Given the description of an element on the screen output the (x, y) to click on. 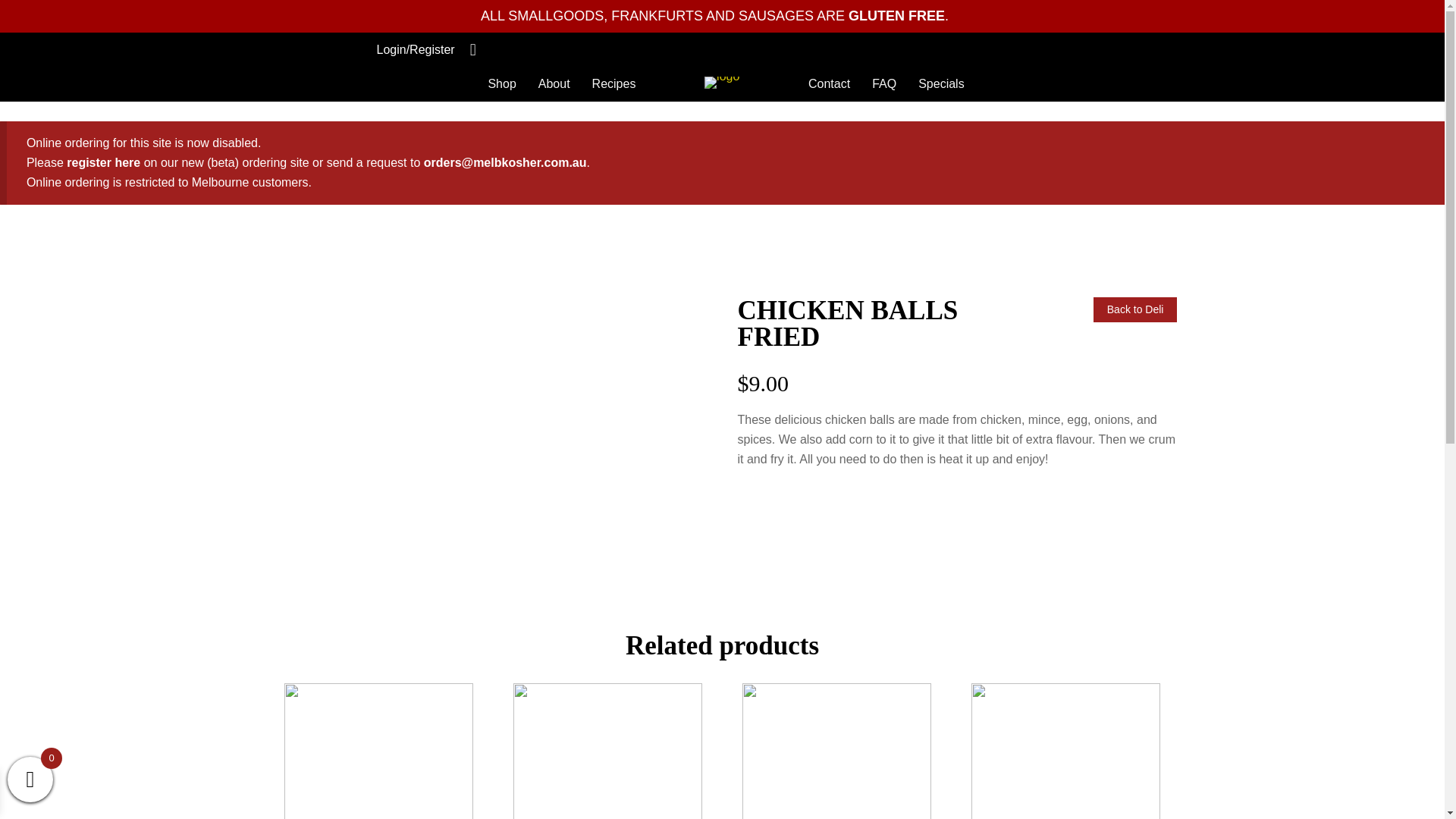
Recipes (613, 83)
About (553, 83)
My Basket (478, 49)
Specials (940, 83)
FAQ (884, 83)
Back to Deli (1135, 309)
logo (721, 82)
Shop (501, 83)
register here (102, 162)
Contact (828, 83)
